Given the description of an element on the screen output the (x, y) to click on. 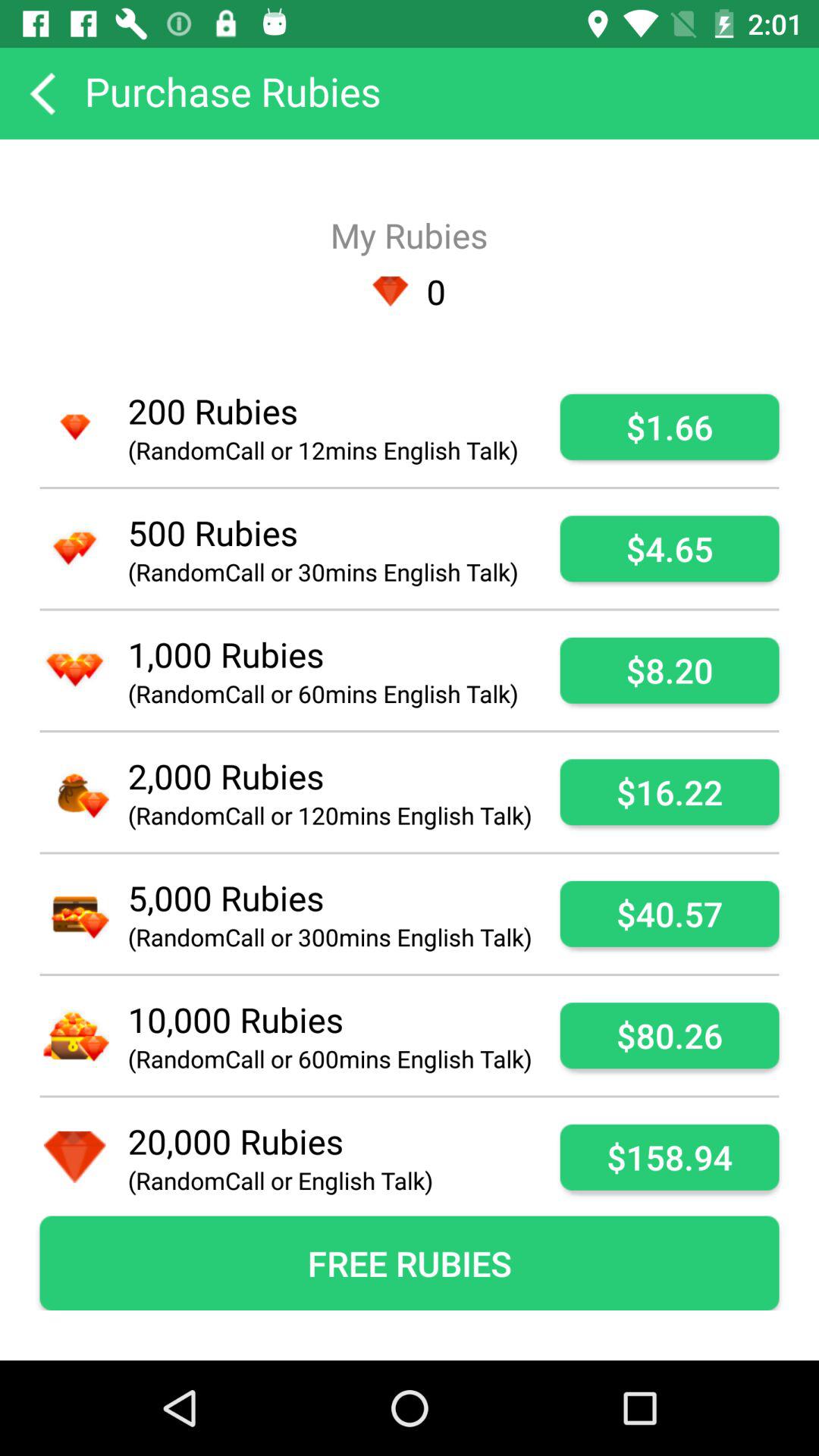
scroll until the $40.57 icon (669, 913)
